Given the description of an element on the screen output the (x, y) to click on. 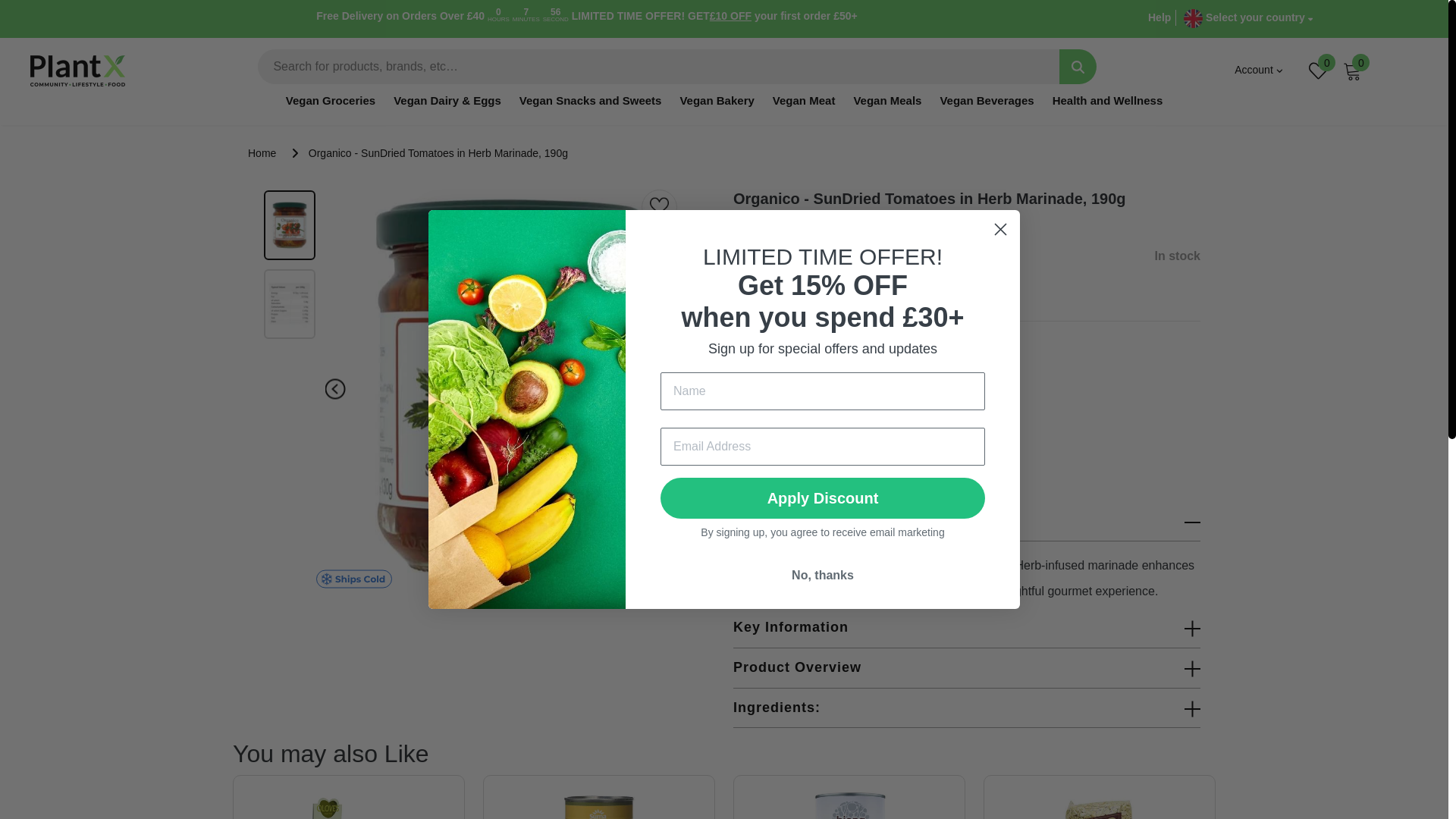
Vegan Snacks and Sweets (590, 108)
search (1077, 66)
Vegan Groceries (330, 108)
Heart (657, 205)
Vegan Bakery (716, 108)
Select your country (1248, 18)
0 (1351, 69)
Account (1259, 69)
My Wish Lists (1317, 69)
Help (1159, 17)
0 (1317, 69)
Close dialog 1 (1000, 229)
Cart Icon (1351, 69)
